Given the description of an element on the screen output the (x, y) to click on. 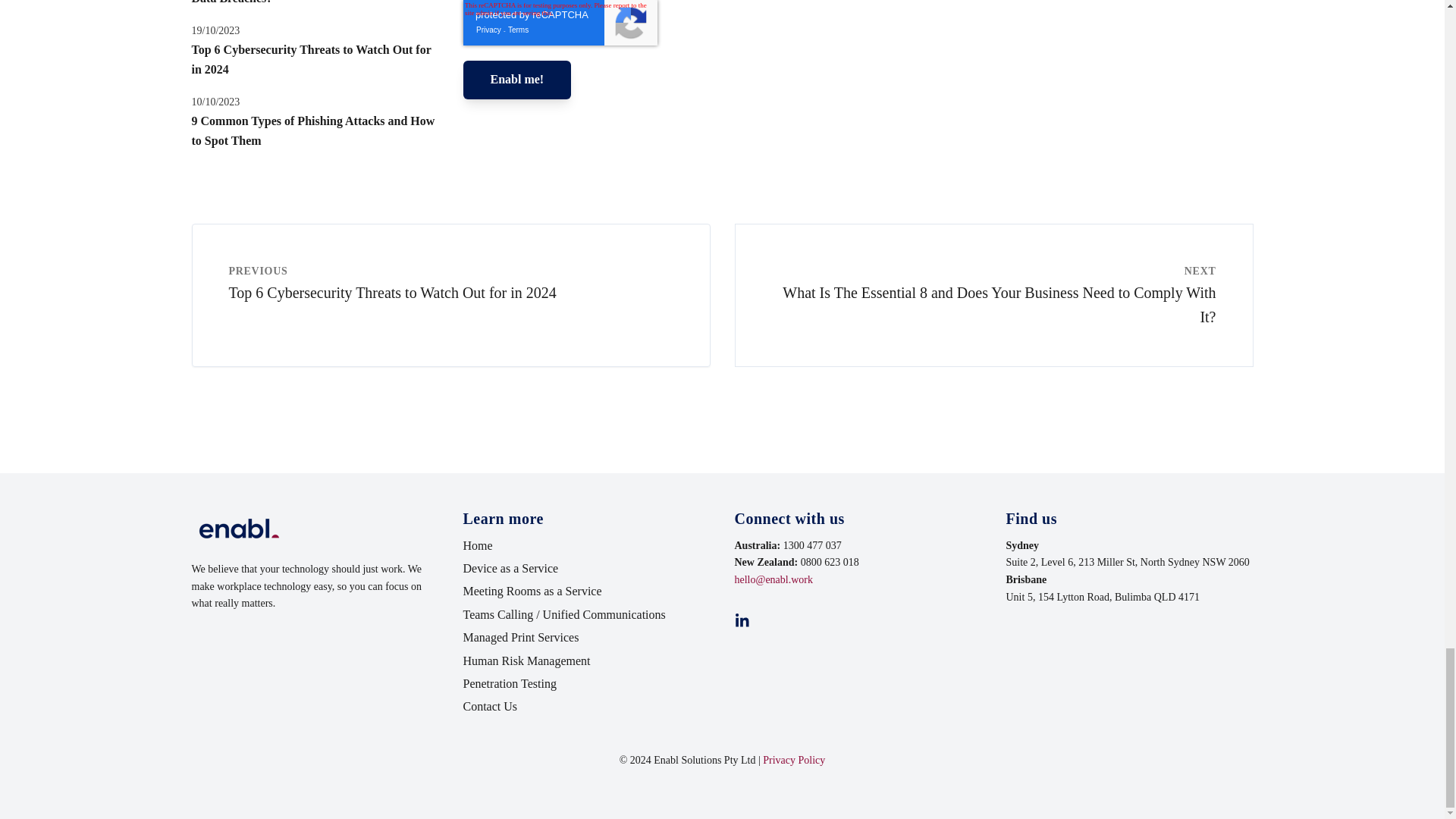
reCAPTCHA (559, 22)
Enabl me! (516, 79)
Enabl me! (516, 79)
